Given the description of an element on the screen output the (x, y) to click on. 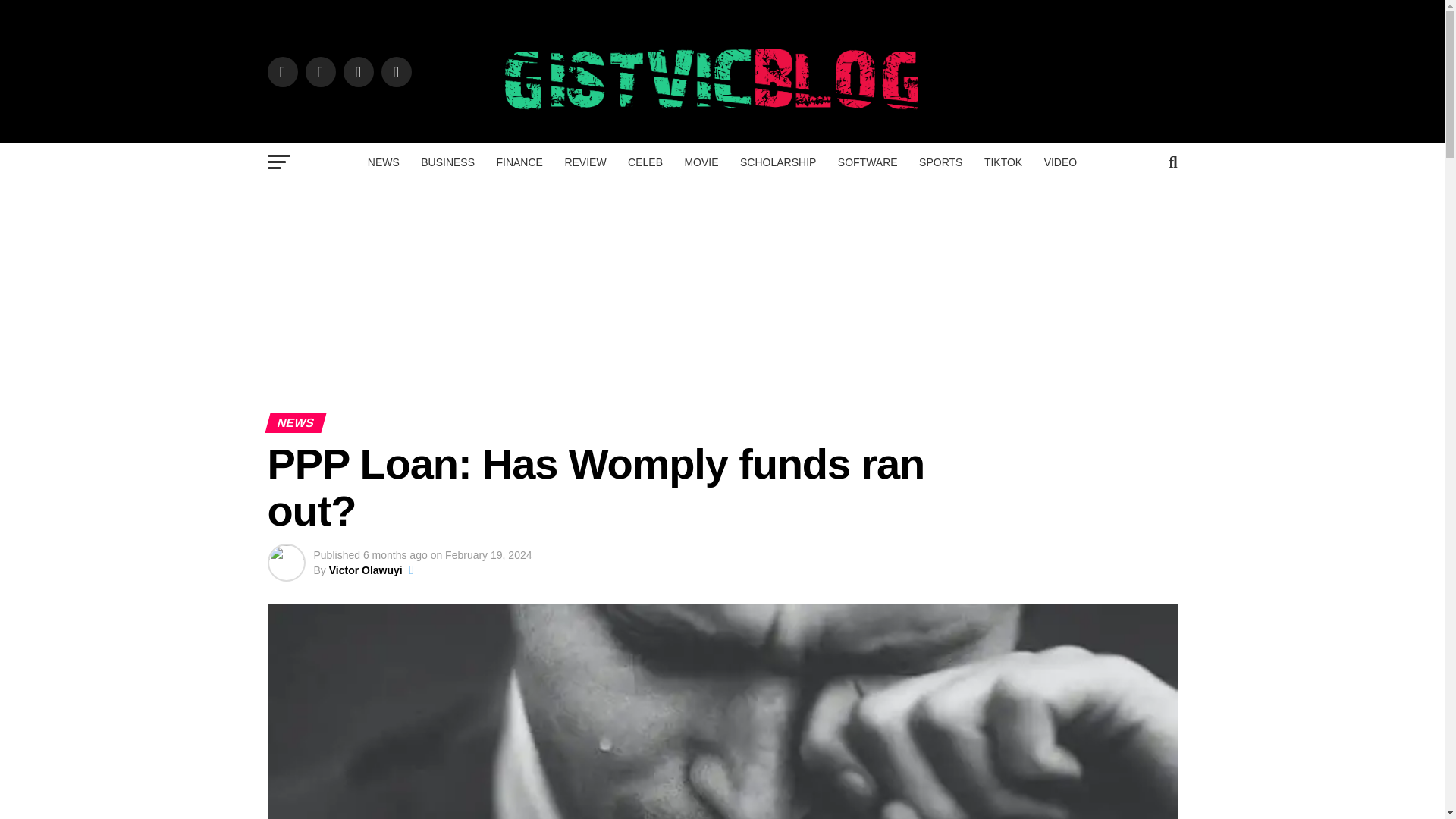
BUSINESS (447, 161)
FINANCE (518, 161)
Posts by Victor Olawuyi (366, 570)
NEWS (383, 161)
